Given the description of an element on the screen output the (x, y) to click on. 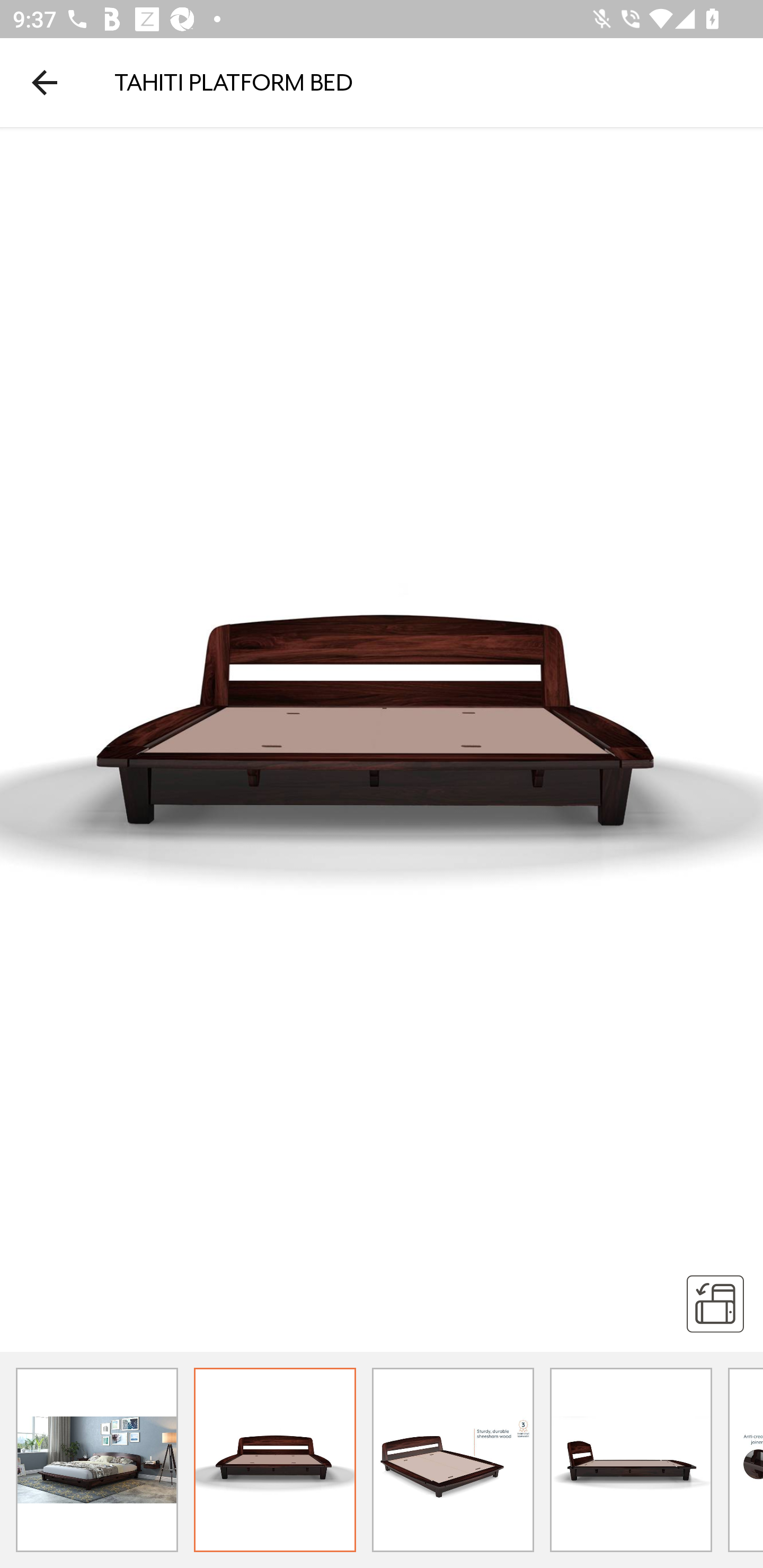
Navigate up (44, 82)
 (715, 1302)
